Given the description of an element on the screen output the (x, y) to click on. 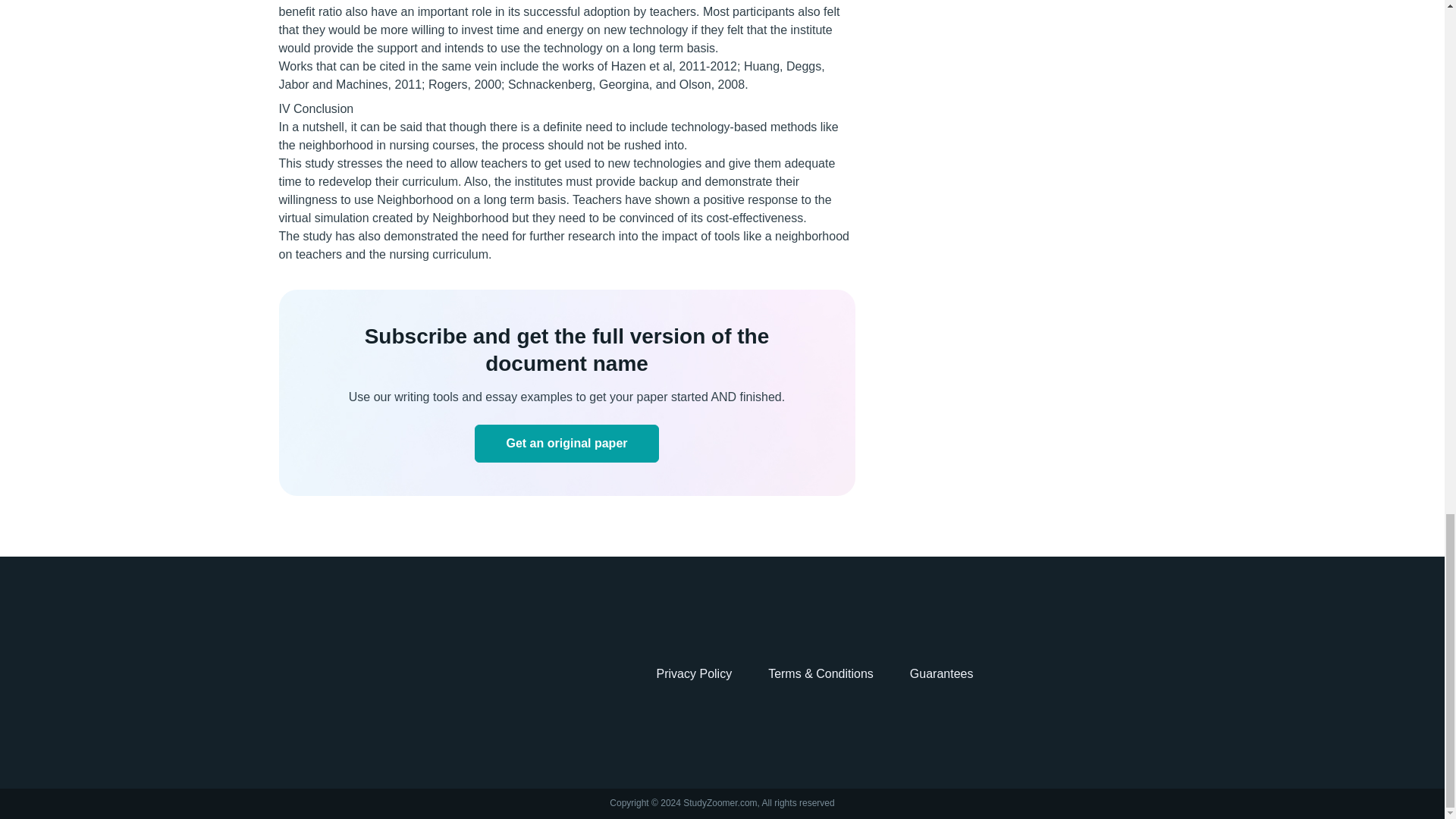
Study Zoomer (333, 674)
Get an original paper (566, 443)
Privacy Policy (694, 674)
Guarantees (942, 674)
Subscribe (566, 443)
